Given the description of an element on the screen output the (x, y) to click on. 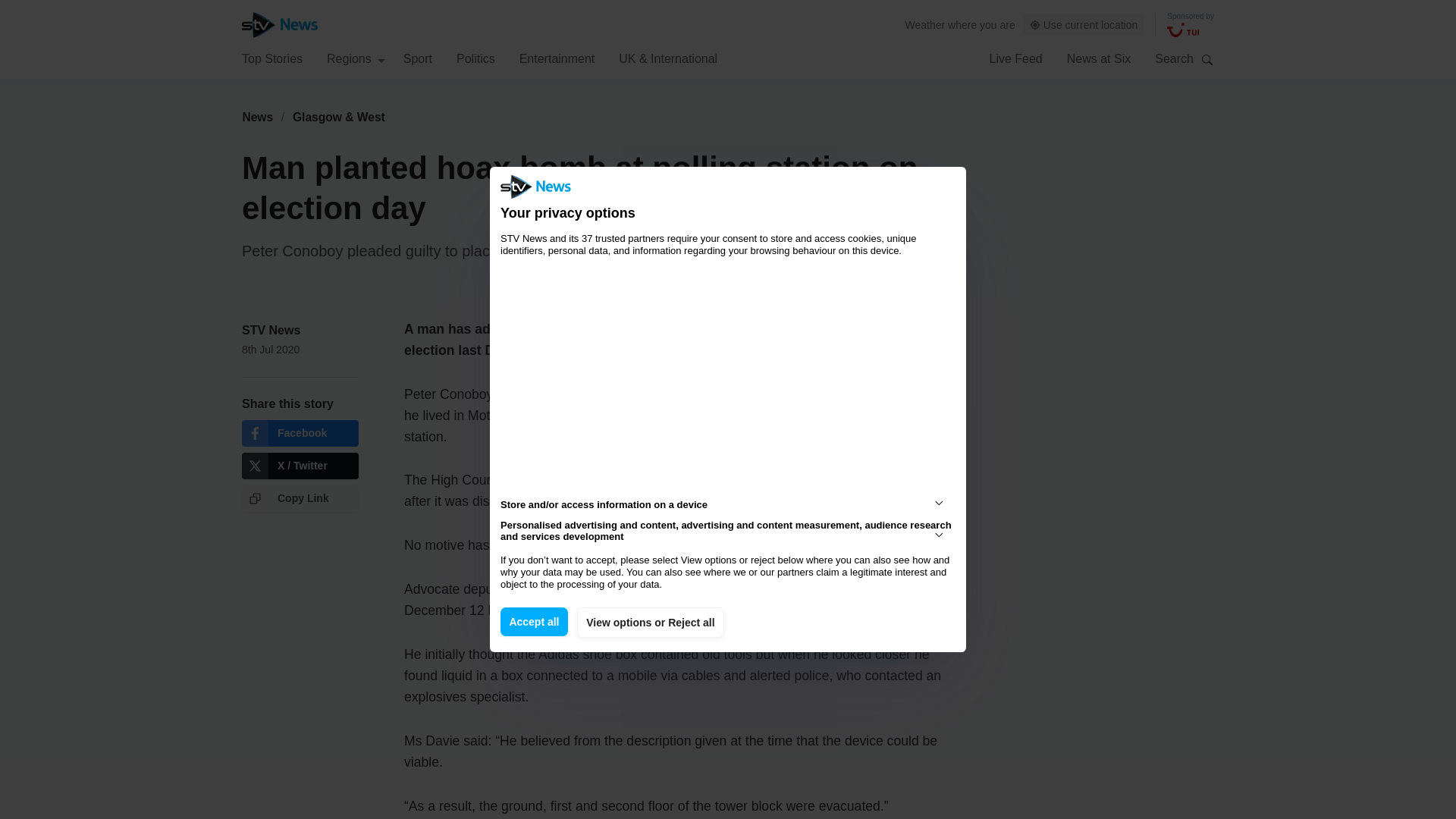
Live Feed (1015, 57)
Regions (355, 57)
Top Stories (271, 57)
Entertainment (557, 57)
News (257, 116)
Use current location (1083, 25)
Weather (924, 24)
Search (1206, 59)
News at Six (1099, 57)
